Given the description of an element on the screen output the (x, y) to click on. 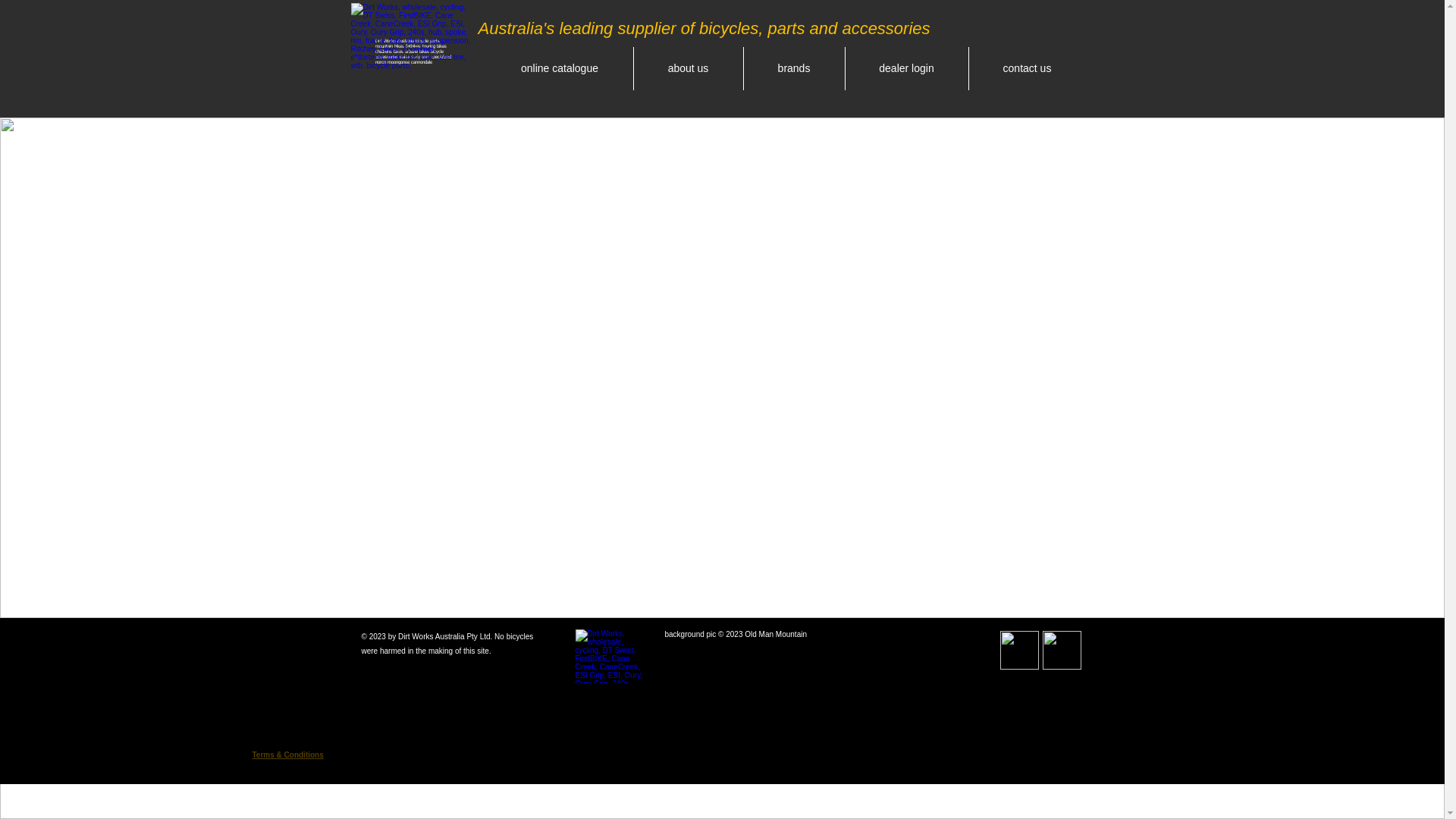
Site Search Element type: hover (1017, 28)
Terms & Conditions Element type: text (287, 754)
contact us Element type: text (1027, 68)
online catalogue Element type: text (559, 68)
about us Element type: text (688, 68)
dealer login Element type: text (905, 68)
brands Element type: text (793, 68)
